Given the description of an element on the screen output the (x, y) to click on. 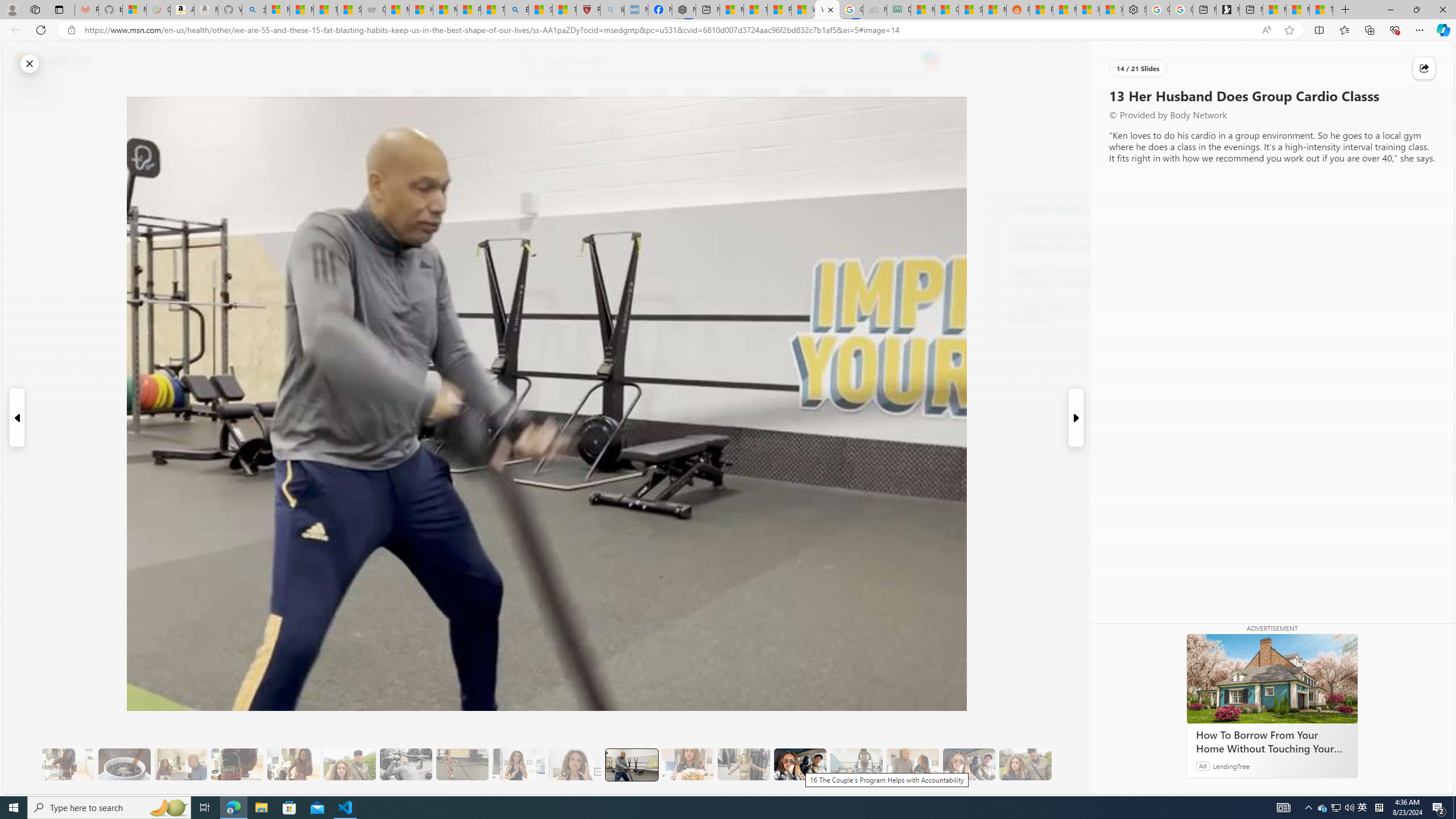
Lifestyle (812, 92)
Follow (518, 146)
13 Her Husband Does Group Cardio Classs (631, 764)
16 The Couple's Program Helps with Accountability (800, 764)
NCL Adult Asthma Inhaler Choice Guideline - Sleeping (635, 9)
7 They Don't Skip Meals (293, 764)
Politics (698, 92)
Body Network (1004, 207)
World News (468, 92)
15 They Also Indulge in a Low-Calorie Sweet Treat (743, 764)
12 Popular Science Lies that Must be Corrected (563, 9)
14 They Have Salmon and Veggies for Dinner (687, 764)
Go to publisher's site (830, 146)
